Given the description of an element on the screen output the (x, y) to click on. 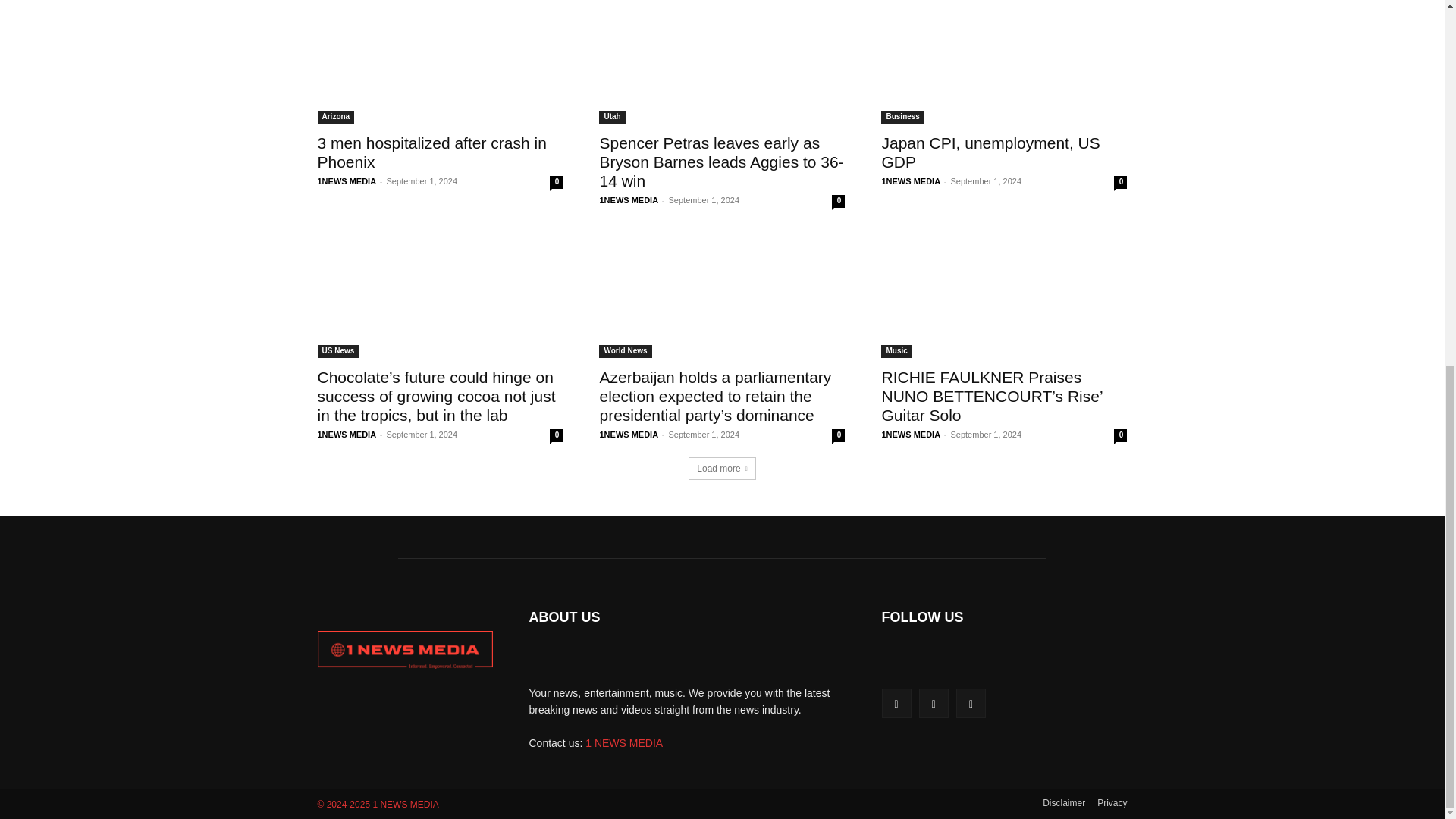
1NEWS MEDIA (346, 180)
Utah (611, 116)
3 men hospitalized after crash in Phoenix (439, 61)
3 men hospitalized after crash in Phoenix (431, 152)
0 (556, 182)
Arizona (335, 116)
Business (901, 116)
1NEWS MEDIA (628, 199)
